Given the description of an element on the screen output the (x, y) to click on. 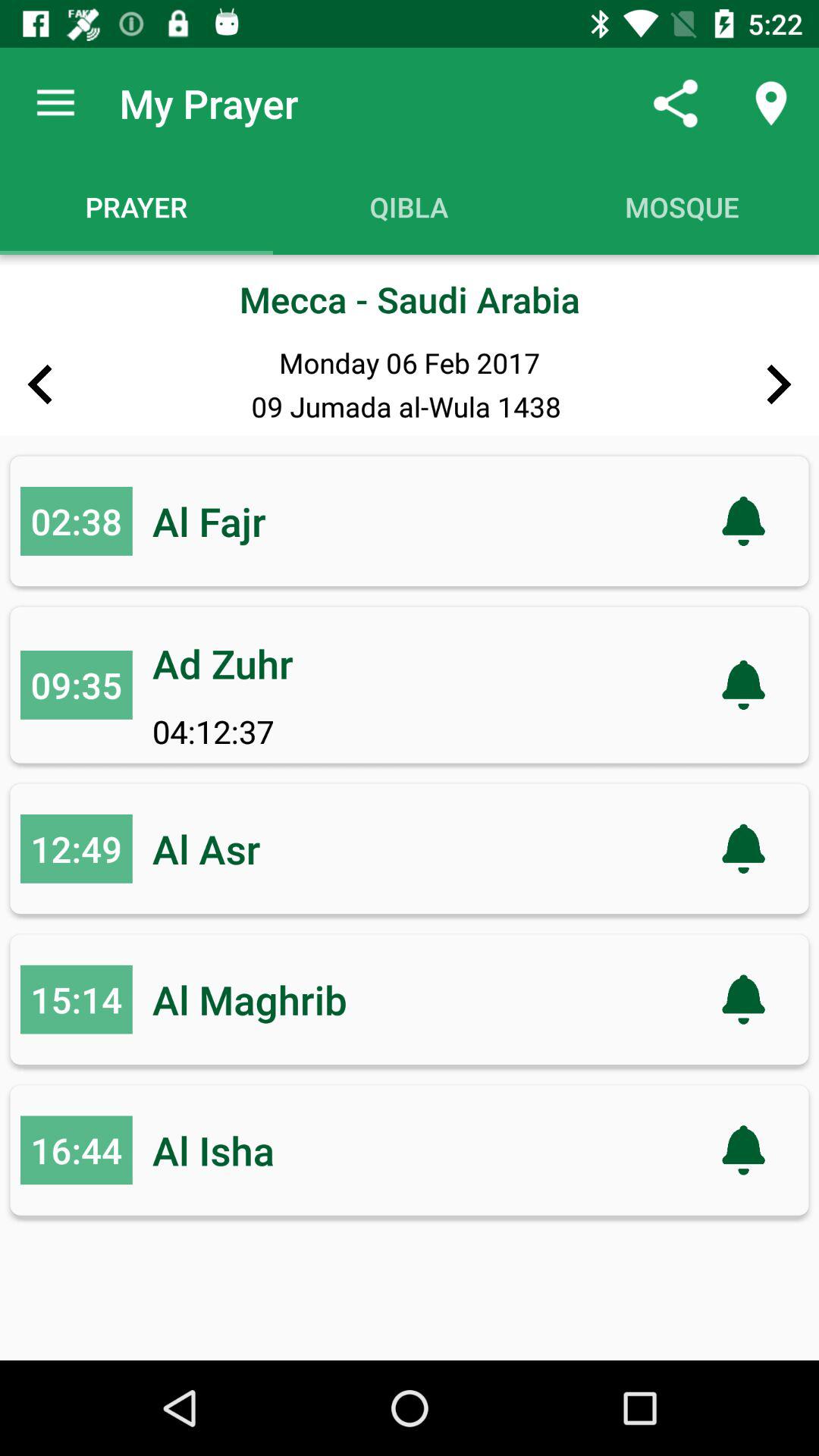
choose the item above 09:35 item (76, 520)
